Given the description of an element on the screen output the (x, y) to click on. 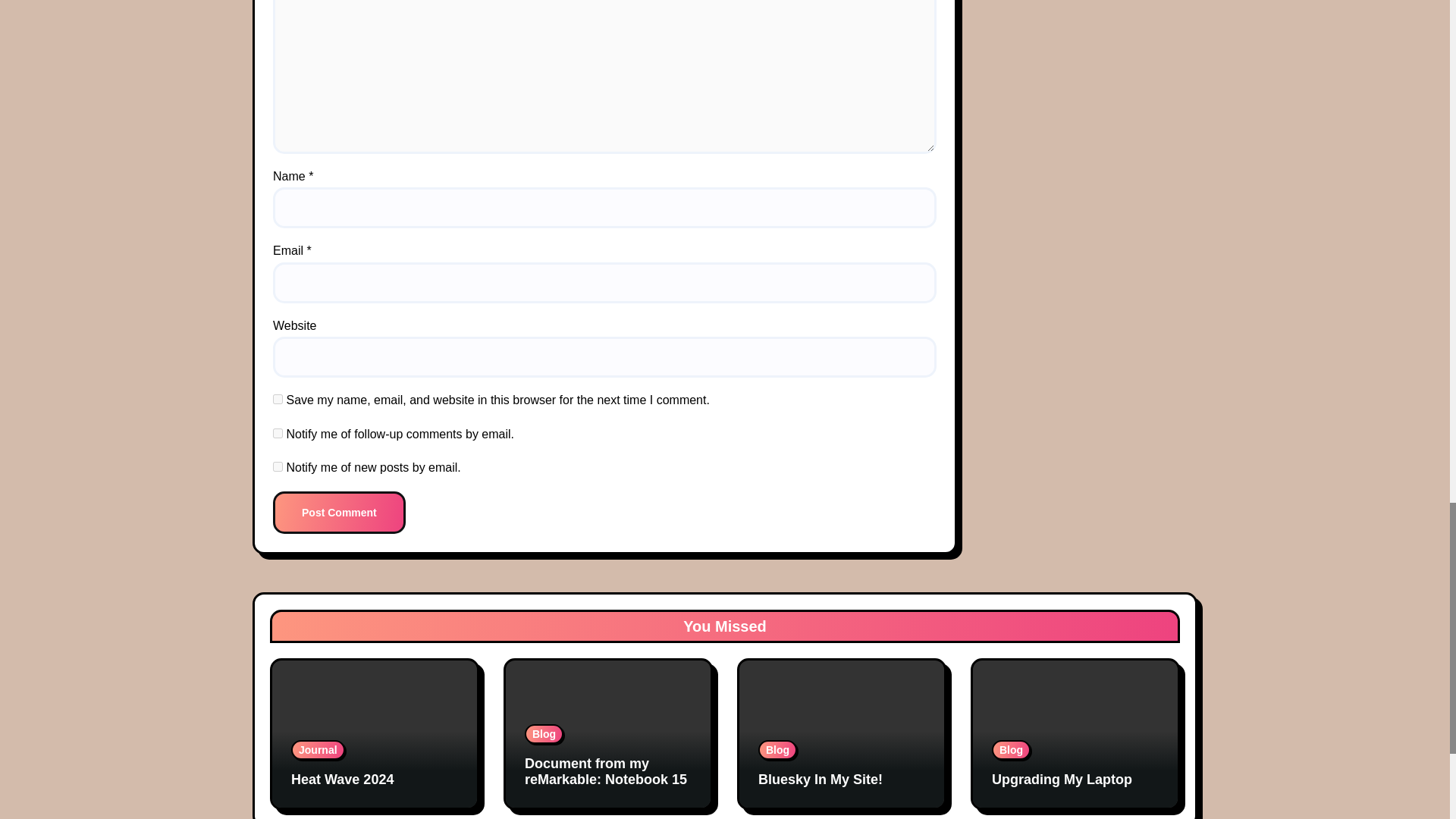
Permalink to: Upgrading My Laptop (1061, 779)
Permalink to: Bluesky In My Site! (820, 779)
Permalink to: Document from my reMarkable: Notebook 15 (605, 771)
subscribe (277, 466)
subscribe (277, 433)
Permalink to: Heat Wave 2024 (342, 779)
yes (277, 398)
Post Comment (339, 512)
